Given the description of an element on the screen output the (x, y) to click on. 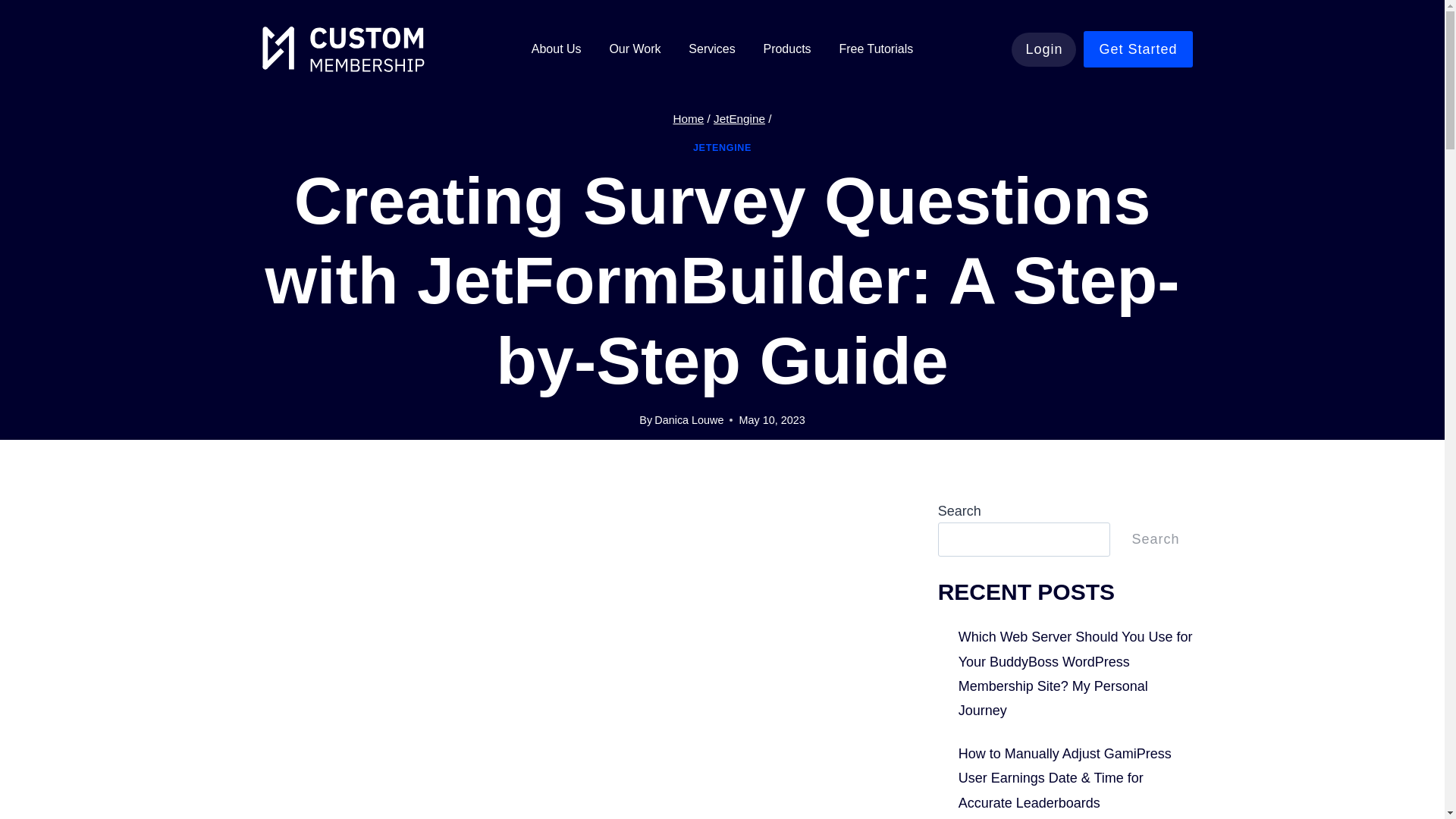
Services (712, 49)
About Us (555, 49)
Login (1043, 49)
JETENGINE (722, 147)
Danica Louwe (688, 419)
Products (787, 49)
Our Work (635, 49)
Free Tutorials (876, 49)
Home (687, 118)
JetEngine (739, 118)
Get Started (1137, 48)
